Given the description of an element on the screen output the (x, y) to click on. 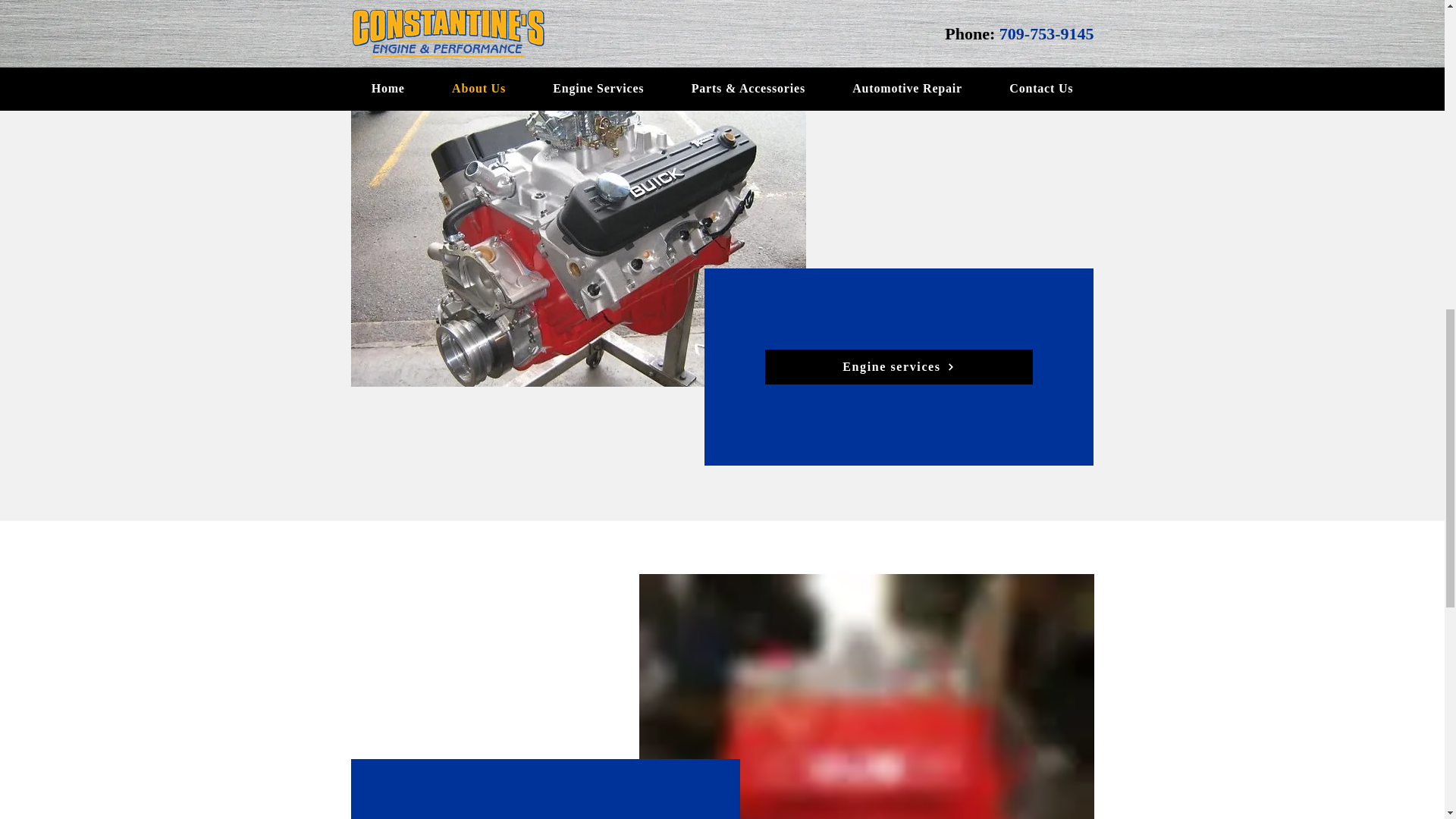
Engine services (898, 366)
